Given the description of an element on the screen output the (x, y) to click on. 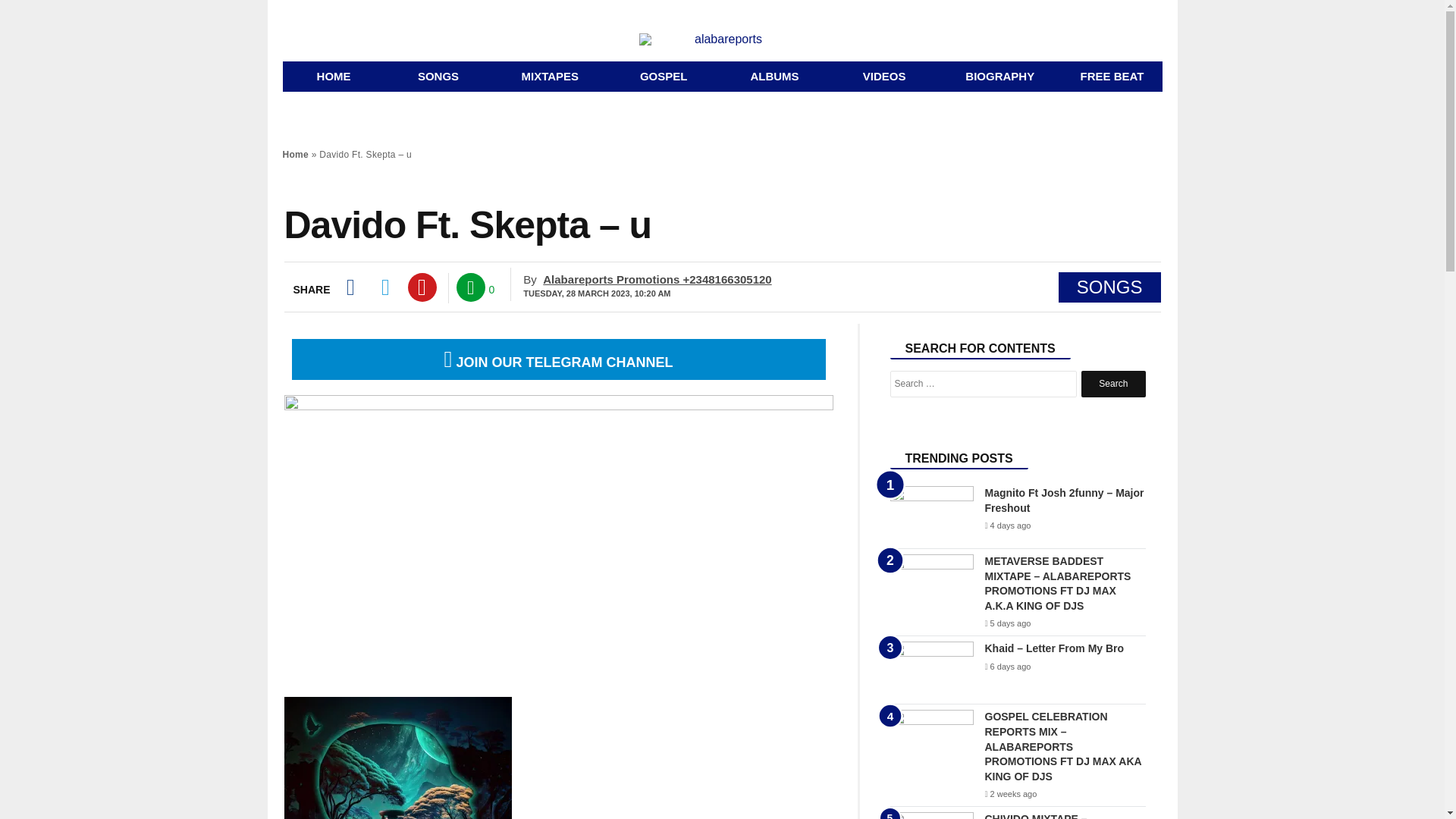
JOIN OUR TELEGRAM CHANNEL (558, 359)
News (663, 76)
Facebook (349, 287)
Twitter (385, 287)
Mixtapes (550, 76)
JOIN OUR TELEGRAM CHANNEL (558, 362)
ALBUMS (774, 76)
HOME (333, 76)
SONGS (438, 76)
GOSPEL (663, 76)
Home (295, 154)
pinterest (421, 287)
Albums (774, 76)
Comments (470, 287)
Songs (438, 76)
